Given the description of an element on the screen output the (x, y) to click on. 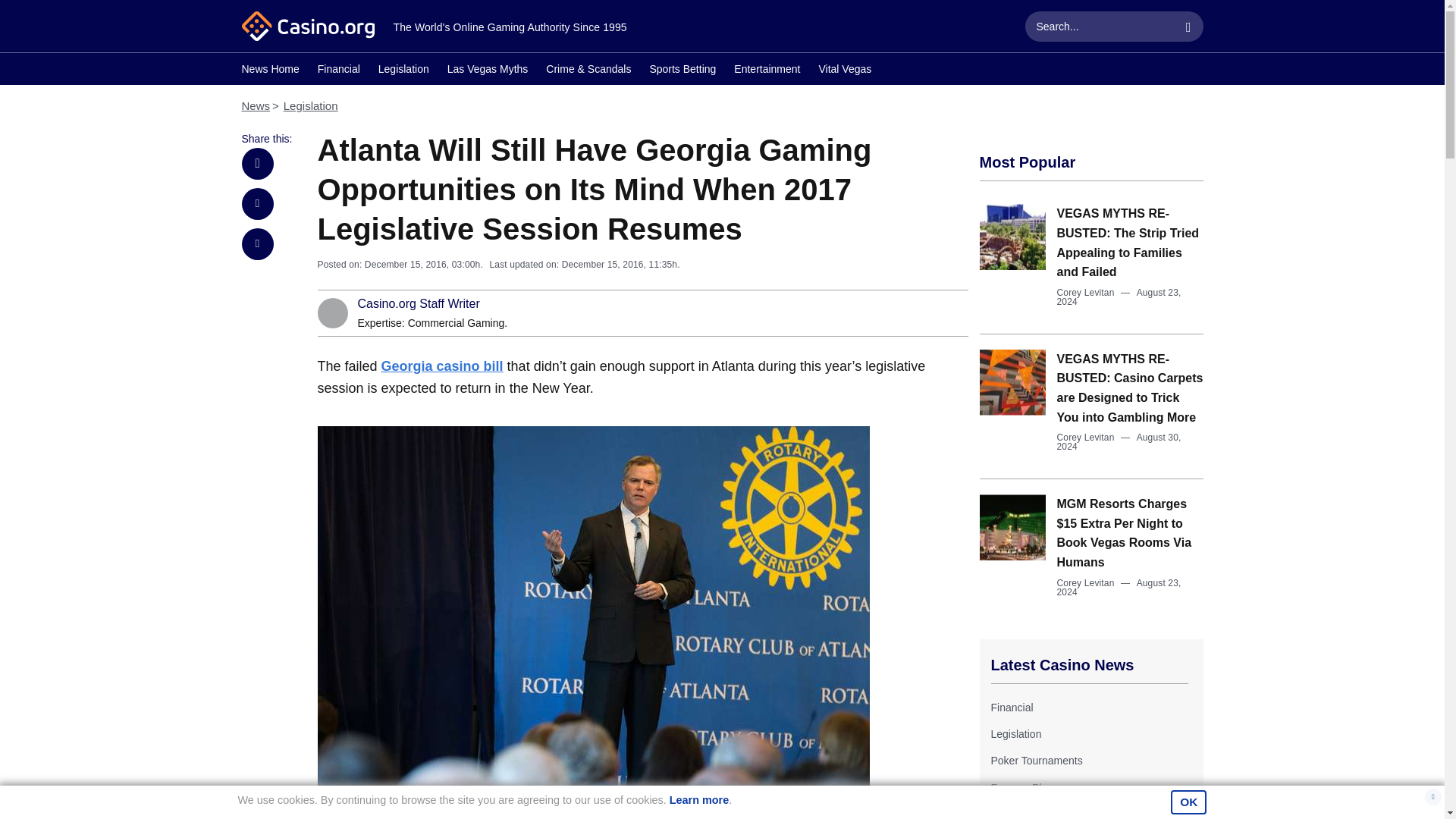
Vital Vegas (845, 70)
Casino.org Staff Writer (419, 304)
News (255, 105)
Corey Levitan (1086, 583)
Commercial Gaming (456, 322)
Legislation (1015, 734)
Commercial Gaming (456, 322)
Sports Betting (682, 70)
Sports (1005, 813)
